Given the description of an element on the screen output the (x, y) to click on. 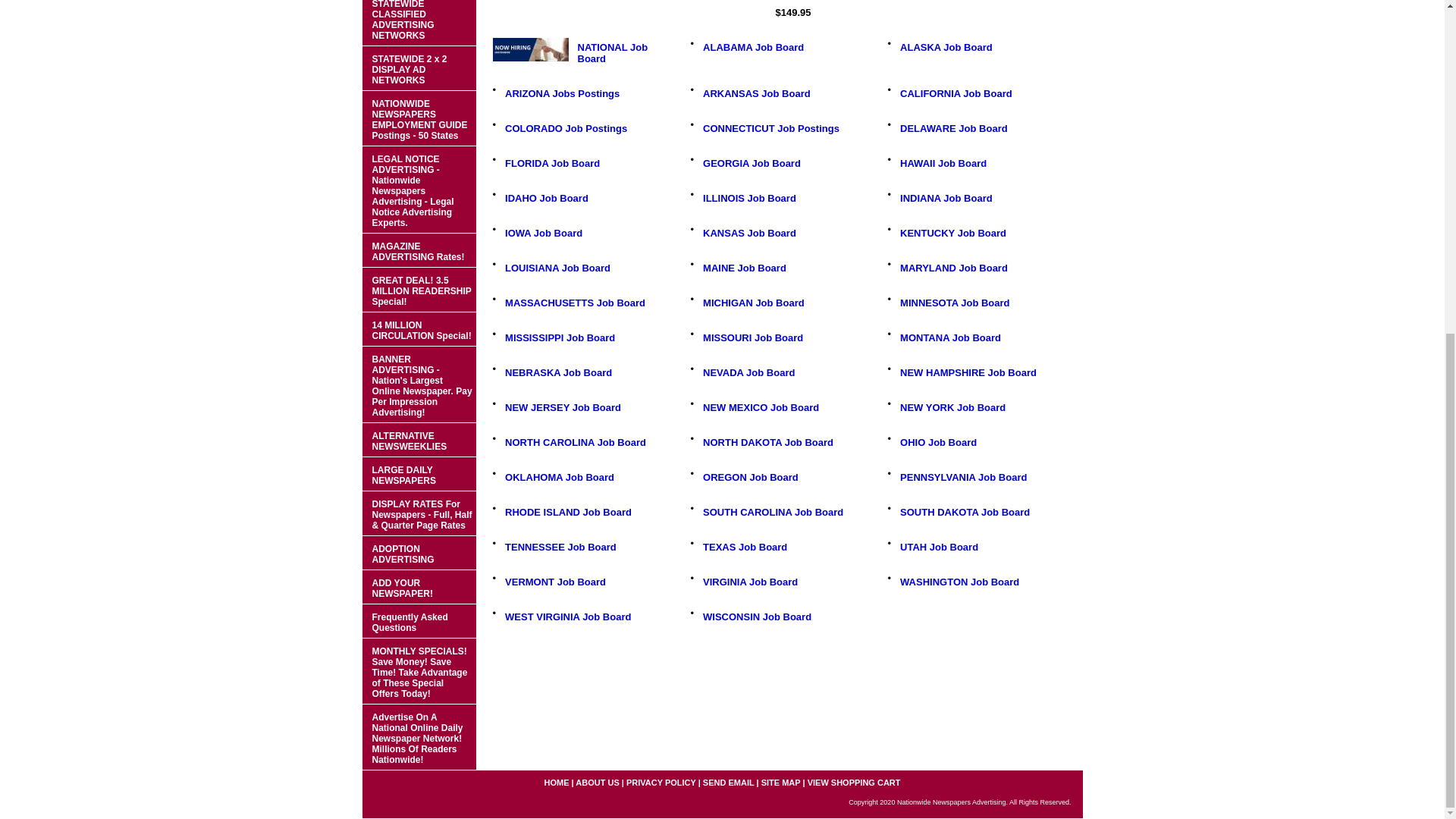
GEORGIA Job Board (751, 163)
ALABAMA Job Board (753, 47)
CALIFORNIA Job Board (955, 93)
ALABAMA Job Board (753, 47)
ARIZONA Jobs Postings (562, 93)
MAINE Job Board (744, 267)
CALIFORNIA Job Board (955, 93)
CONNECTICUT Job Postings (771, 128)
IDAHO Job Board (546, 197)
FLORIDA Job Board (552, 163)
NATIONAL Job Board (612, 52)
MARYLAND Job Board (953, 267)
FLORIDA Job Board (552, 163)
NATIONAL Job Board (531, 49)
LOUISIANA Job Board (557, 267)
